Given the description of an element on the screen output the (x, y) to click on. 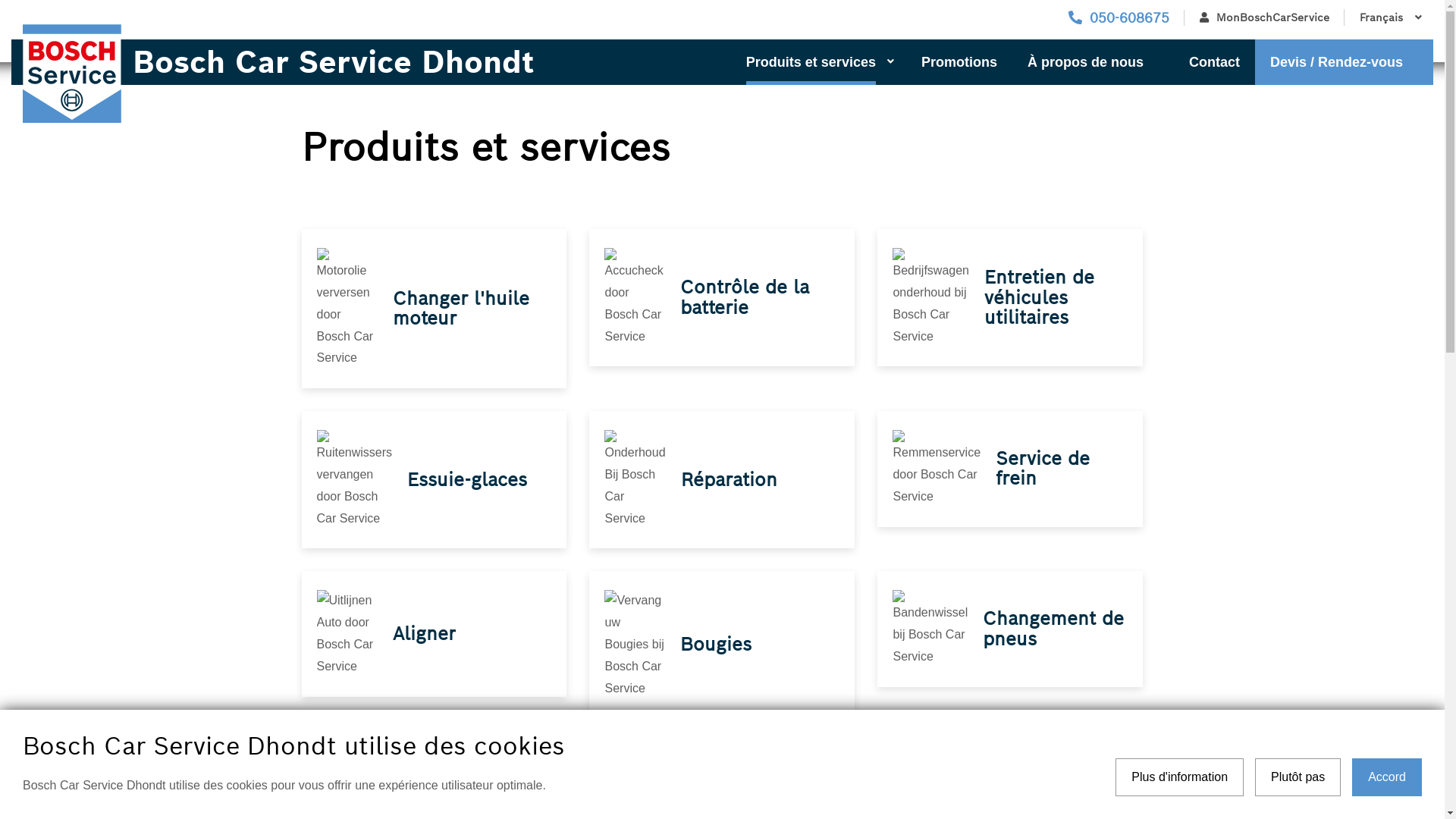
Changement de pneus Element type: text (1052, 627)
Plus d'information Element type: text (1179, 777)
Changer l'huile moteur Element type: text (460, 307)
Essuie-glaces Element type: text (467, 479)
Produits et services Element type: text (818, 61)
Bougies Element type: text (715, 643)
Bosch Car Service Dhondt Element type: text (327, 61)
Promotions Element type: text (959, 61)
Aligner Element type: text (423, 633)
Contact Element type: text (1214, 61)
Devis / Rendez-vous Element type: text (1344, 61)
Accord Element type: text (1386, 777)
MonBoschCarService Element type: text (1264, 17)
050-608675 Element type: text (1118, 17)
Service de frein Element type: text (1042, 467)
Skip to main content Element type: text (0, 0)
